Given the description of an element on the screen output the (x, y) to click on. 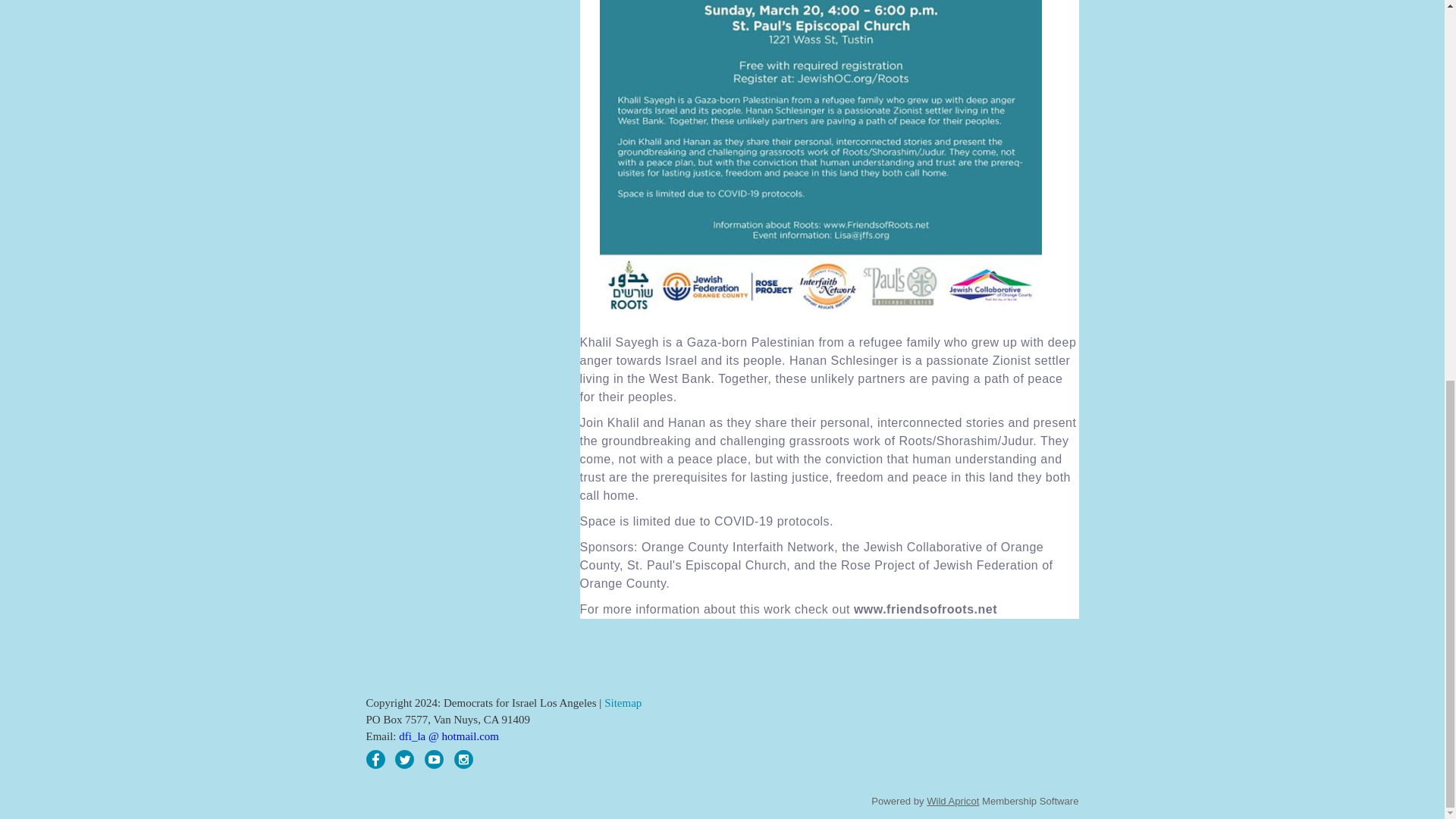
Instagram (463, 759)
YouTube (434, 759)
Sitemap (623, 702)
Facebook (374, 759)
Wild Apricot (952, 800)
Twitter (403, 759)
